Given the description of an element on the screen output the (x, y) to click on. 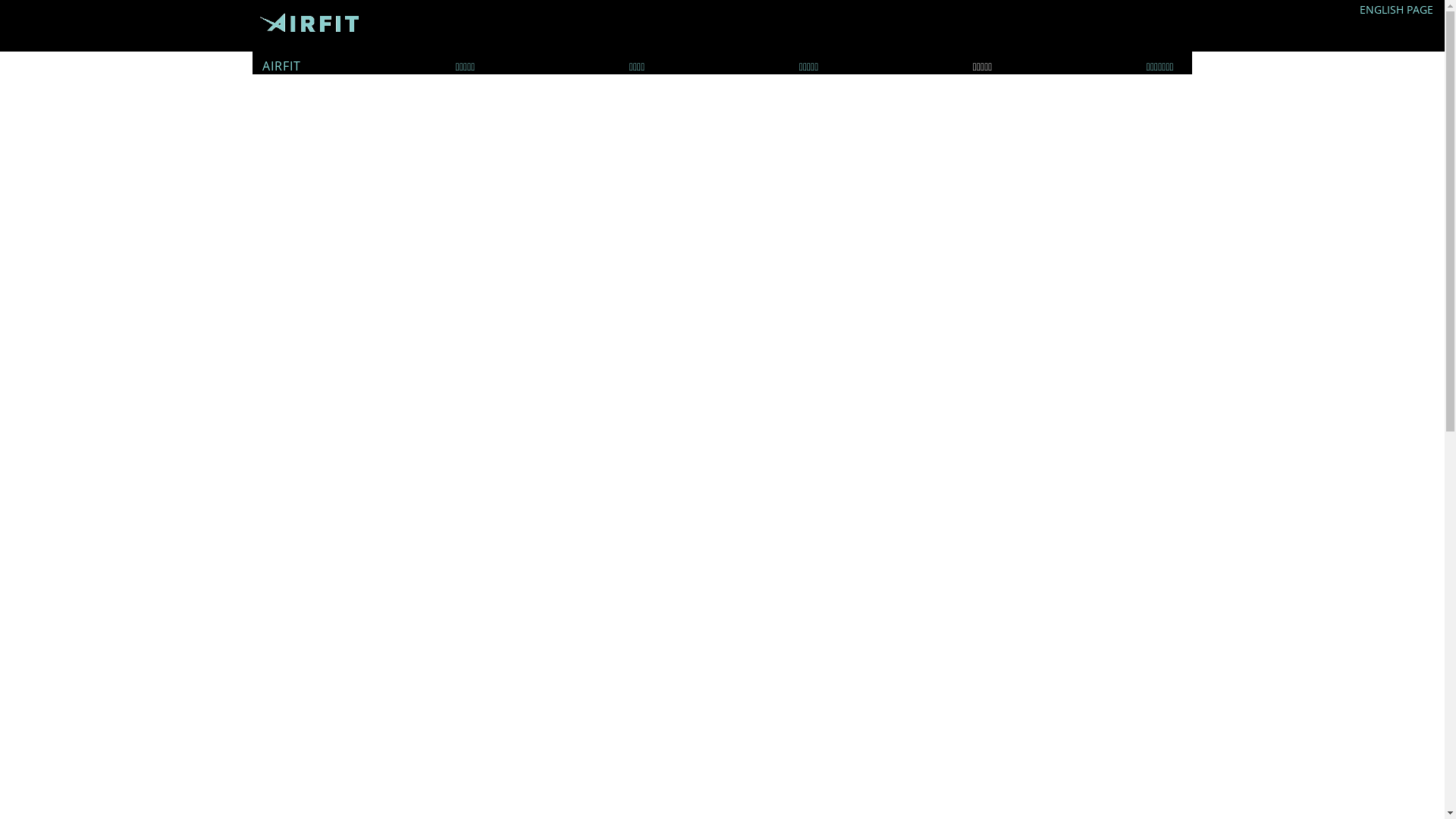
AIRFIT Element type: text (281, 65)
ENGLISH PAGE Element type: text (1396, 9)
